Given the description of an element on the screen output the (x, y) to click on. 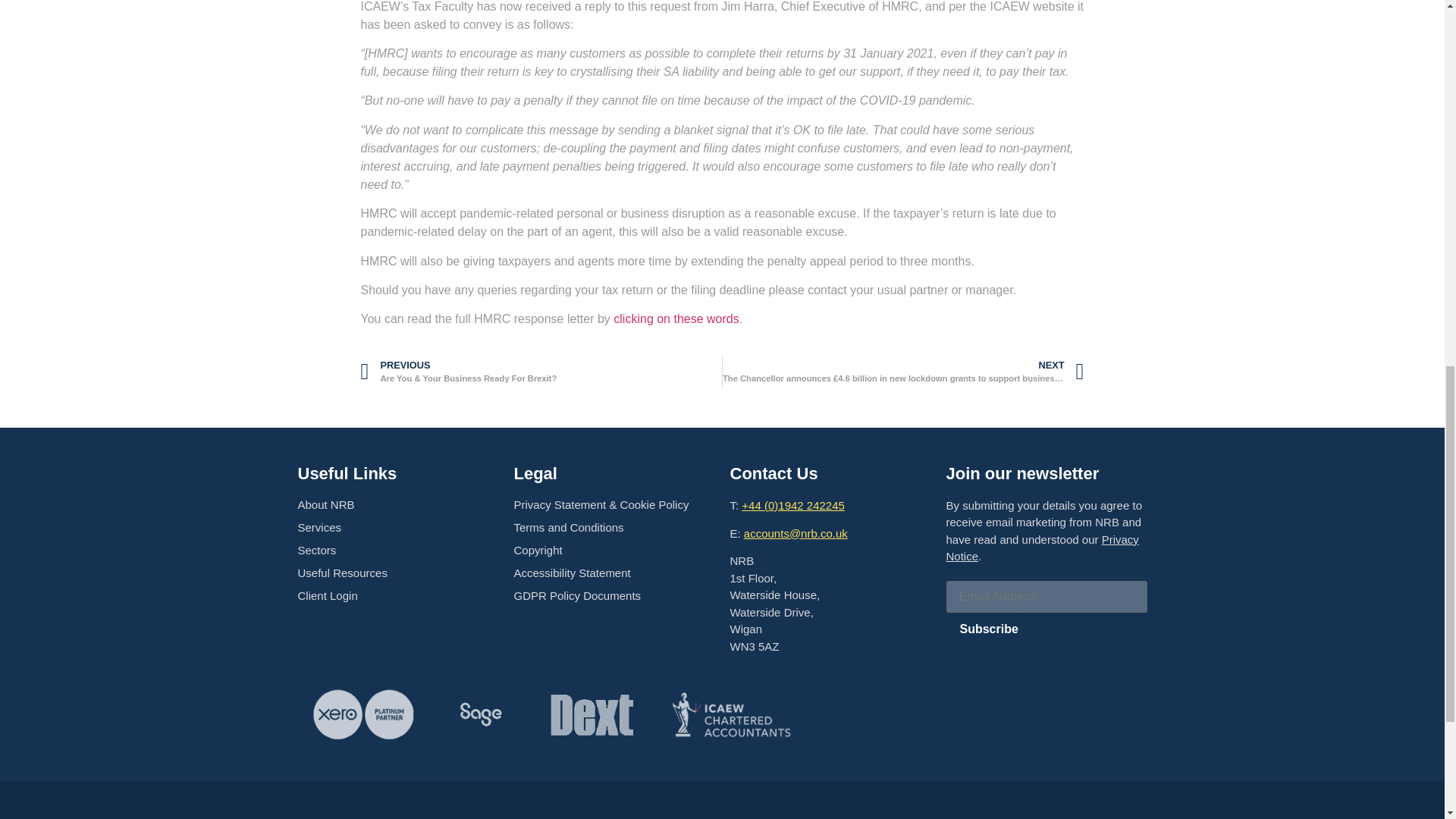
Subscribe (989, 629)
